Given the description of an element on the screen output the (x, y) to click on. 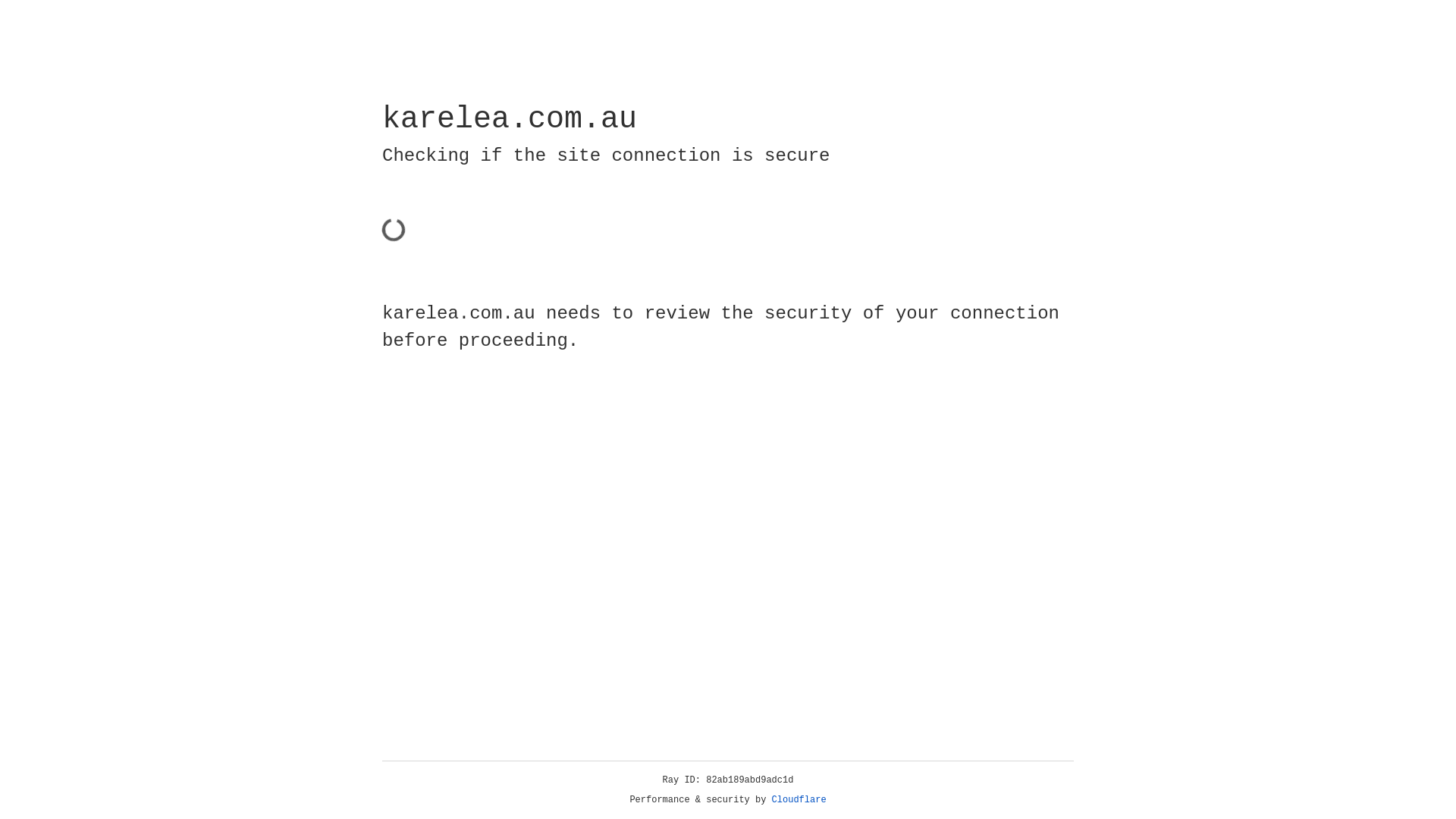
Cloudflare Element type: text (798, 799)
